Given the description of an element on the screen output the (x, y) to click on. 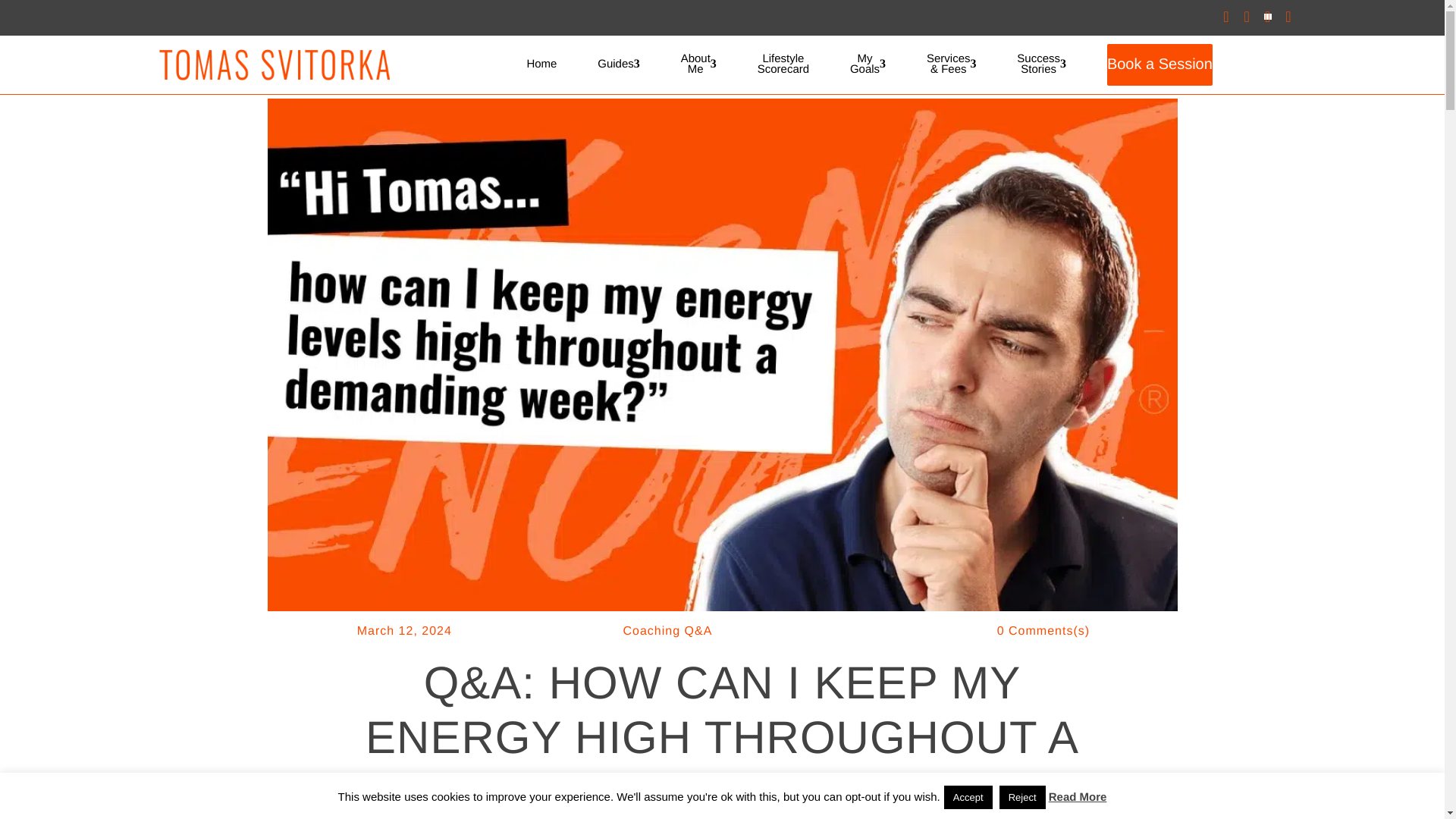
Home (540, 63)
Guides (1040, 64)
